Given the description of an element on the screen output the (x, y) to click on. 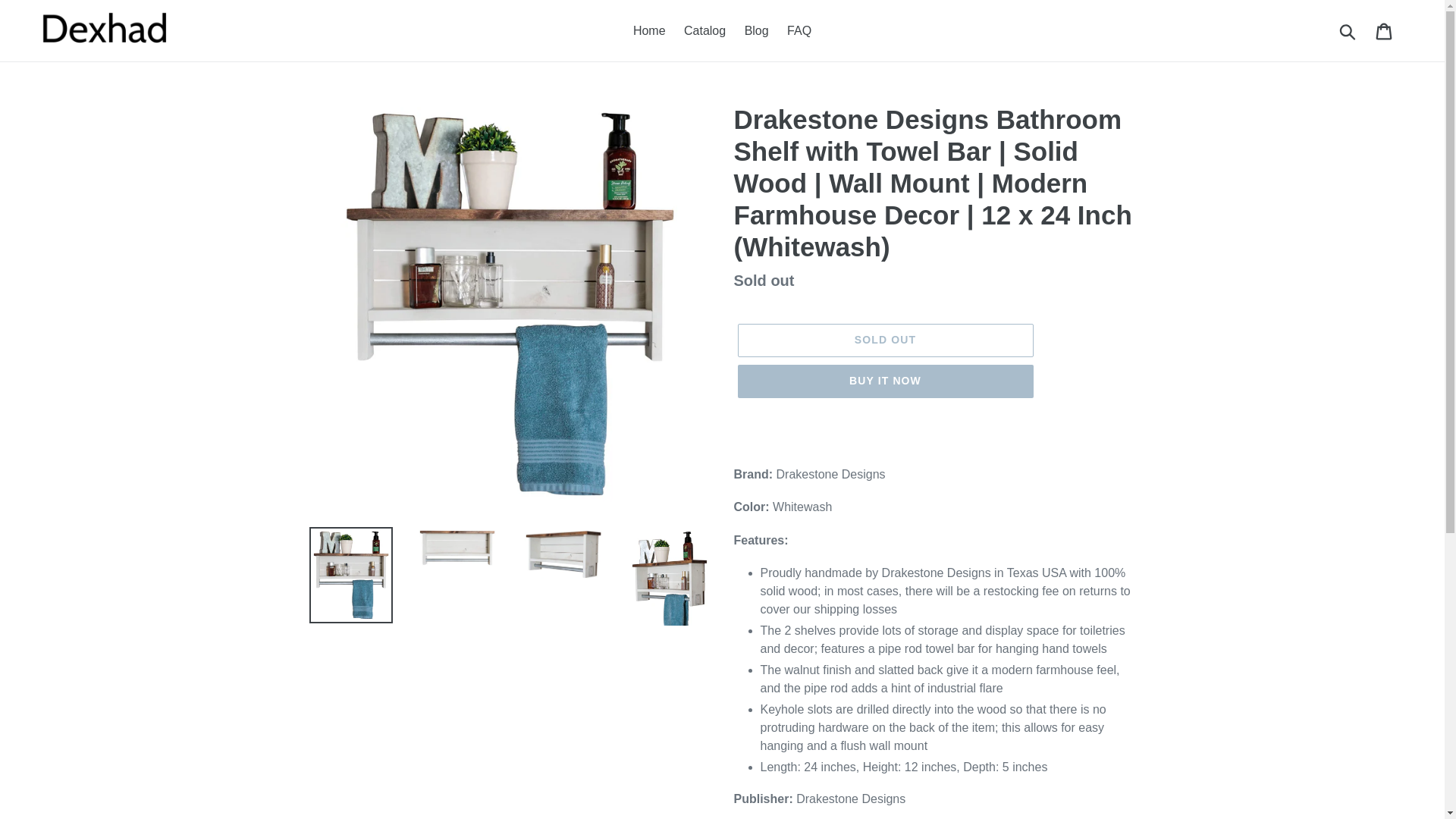
Blog (756, 30)
Submit (1348, 29)
Cart (1385, 29)
Catalog (705, 30)
BUY IT NOW (884, 381)
Home (649, 30)
SOLD OUT (884, 340)
FAQ (798, 30)
